Given the description of an element on the screen output the (x, y) to click on. 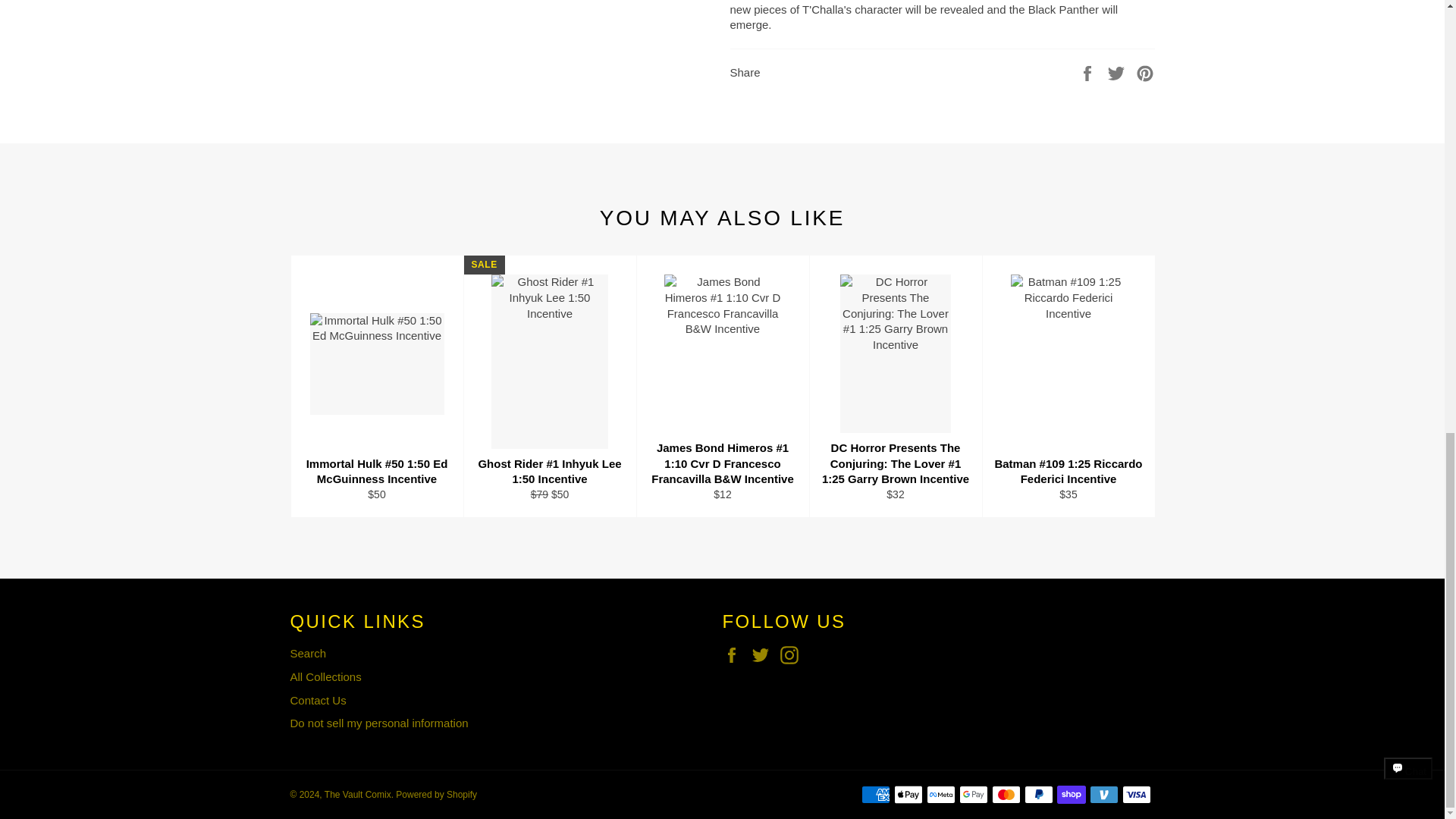
Tweet on Twitter (1117, 72)
The Vault Comix on Facebook (735, 655)
The Vault Comix on Twitter (764, 655)
The Vault Comix on Instagram (793, 655)
Pin on Pinterest (1144, 72)
Share on Facebook (1088, 72)
Share on Facebook (1088, 72)
